Given the description of an element on the screen output the (x, y) to click on. 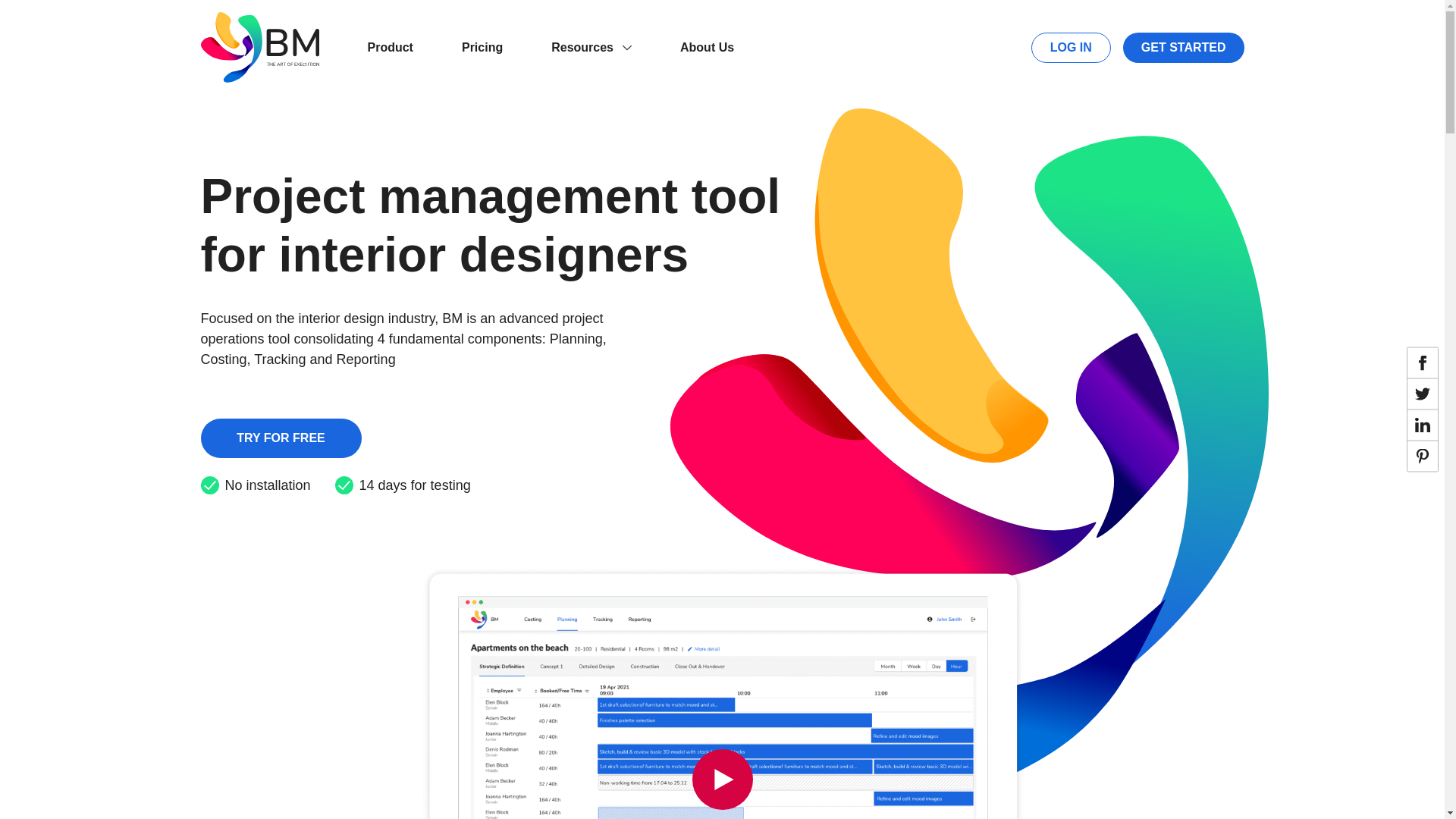
TRY FOR FREE (280, 437)
Share on LinkedIn (1422, 424)
Share on Pinterest (1422, 456)
Product (389, 46)
Share on Twitter (1422, 394)
Share on Facebook (1422, 362)
LOG IN (1070, 46)
GET STARTED (1183, 46)
About Us (707, 46)
Pricing (482, 46)
